Given the description of an element on the screen output the (x, y) to click on. 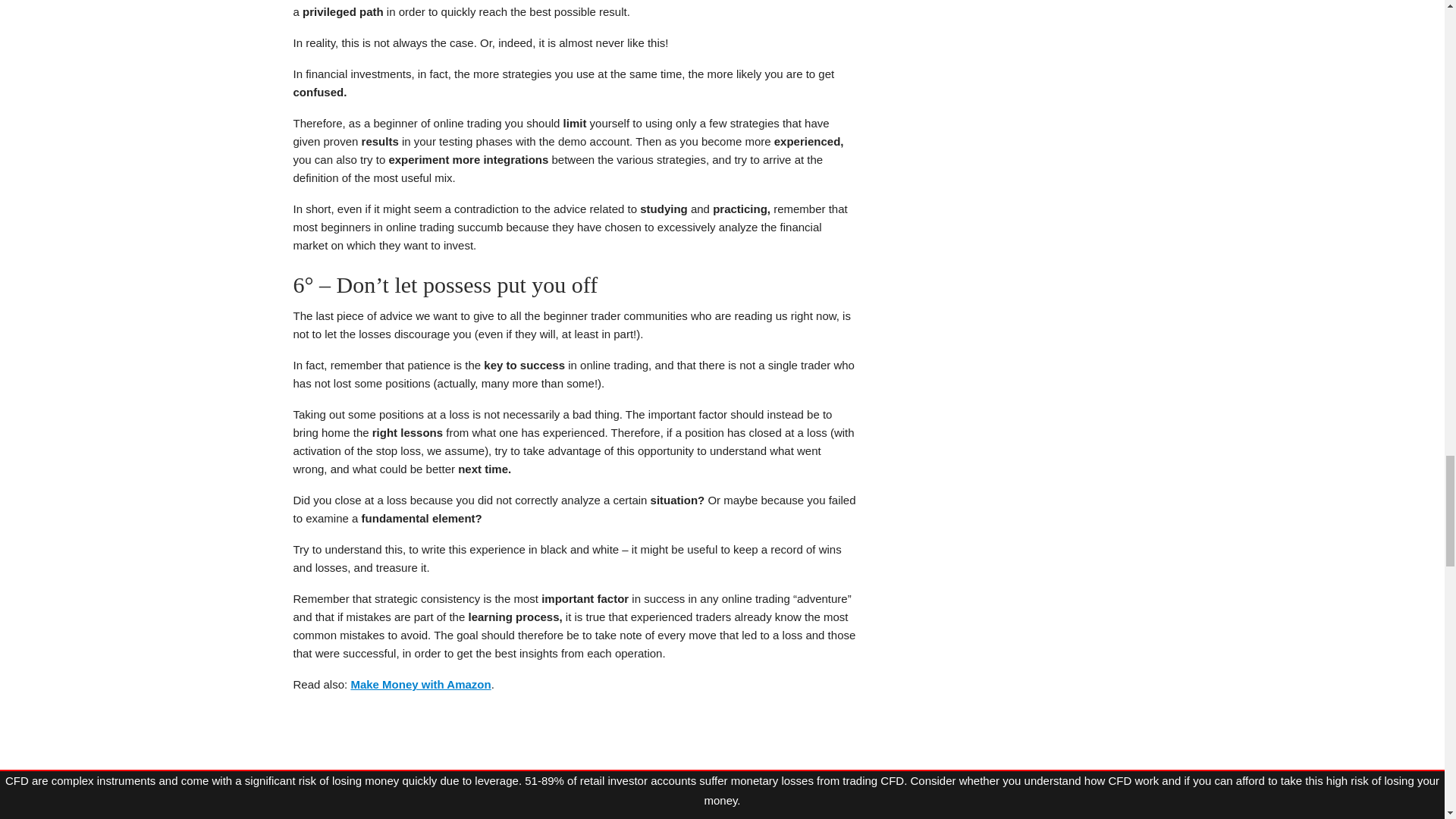
beginner trader tips (574, 762)
